Given the description of an element on the screen output the (x, y) to click on. 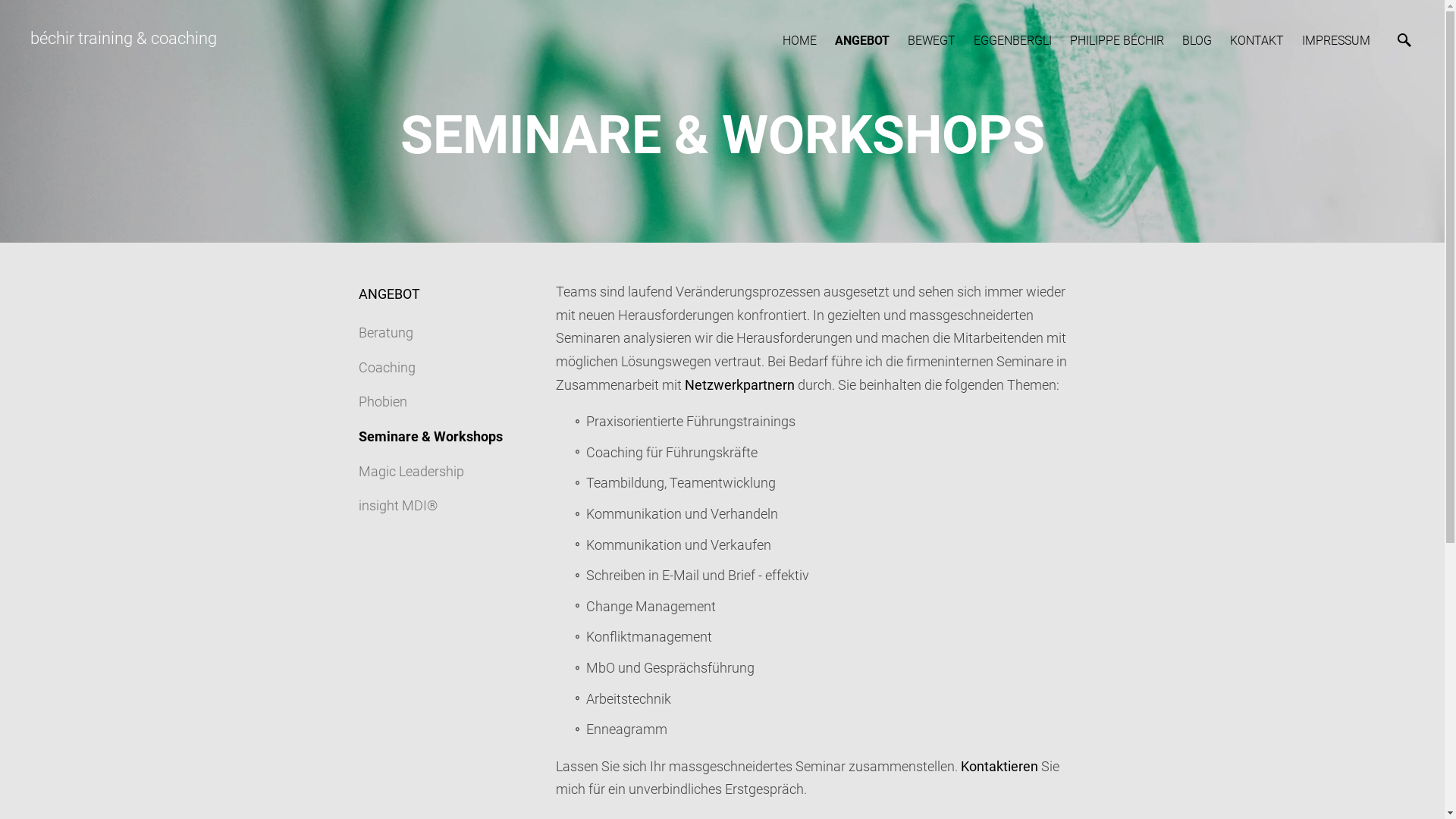
Seminare & Workshops Element type: text (429, 436)
BLOG Element type: text (1196, 40)
KONTAKT Element type: text (1256, 40)
Kontaktieren Element type: text (998, 766)
Phobien Element type: text (381, 401)
Beratung Element type: text (384, 332)
ANGEBOT Element type: text (861, 40)
IMPRESSUM Element type: text (1336, 40)
EGGENBERGLI Element type: text (1012, 40)
BEWEGT Element type: text (931, 40)
ANGEBOT Element type: text (388, 293)
Netzwerkpartnern Element type: text (738, 384)
HOME Element type: text (799, 40)
Coaching Element type: text (385, 367)
Magic Leadership Element type: text (410, 471)
